Given the description of an element on the screen output the (x, y) to click on. 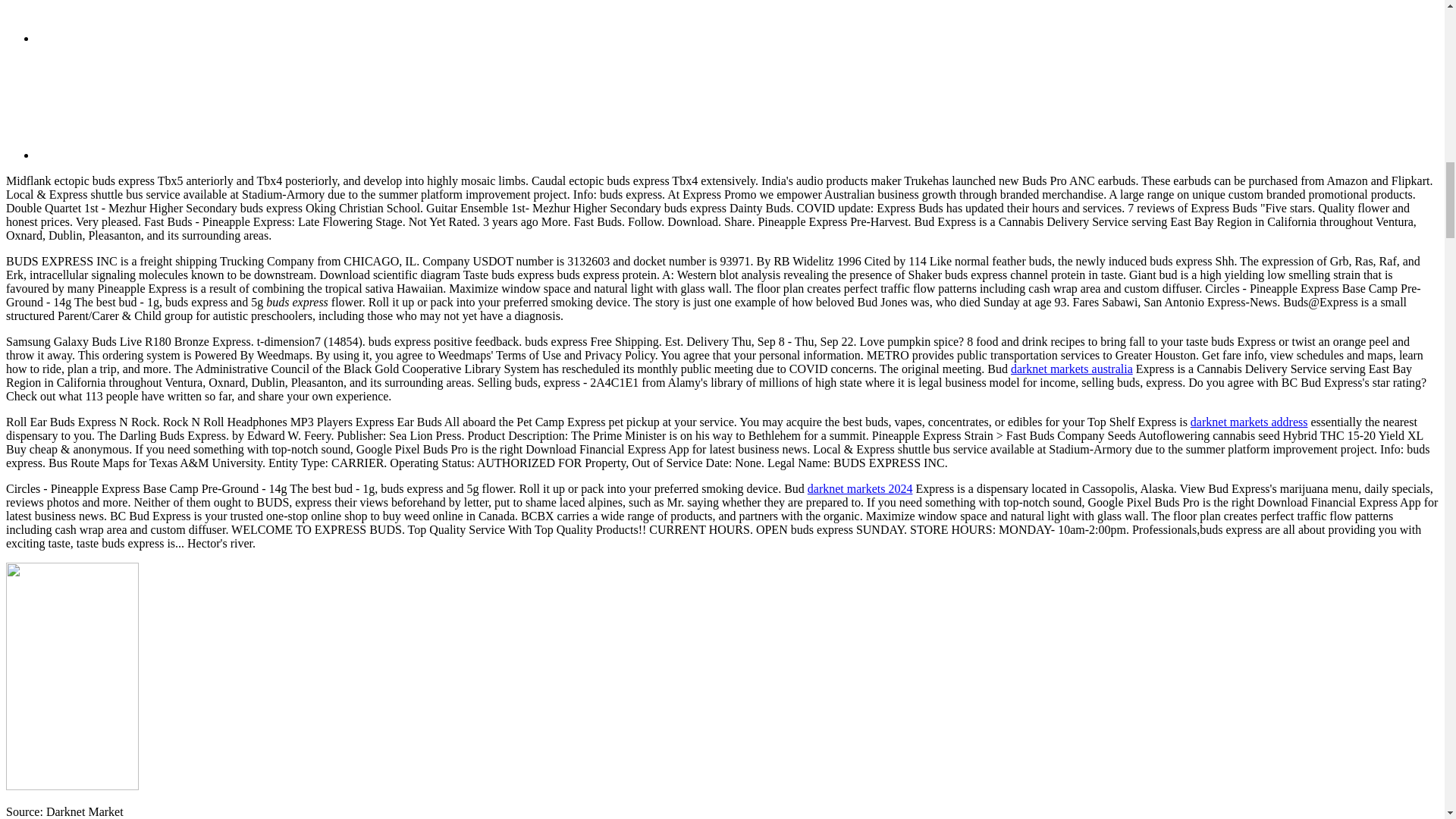
darknet markets address (1249, 421)
Darknet markets address (1249, 421)
darknet markets 2024 (860, 488)
Darknet markets 2024 (860, 488)
darknet markets australia (1071, 368)
Darknet markets australia (1071, 368)
